Given the description of an element on the screen output the (x, y) to click on. 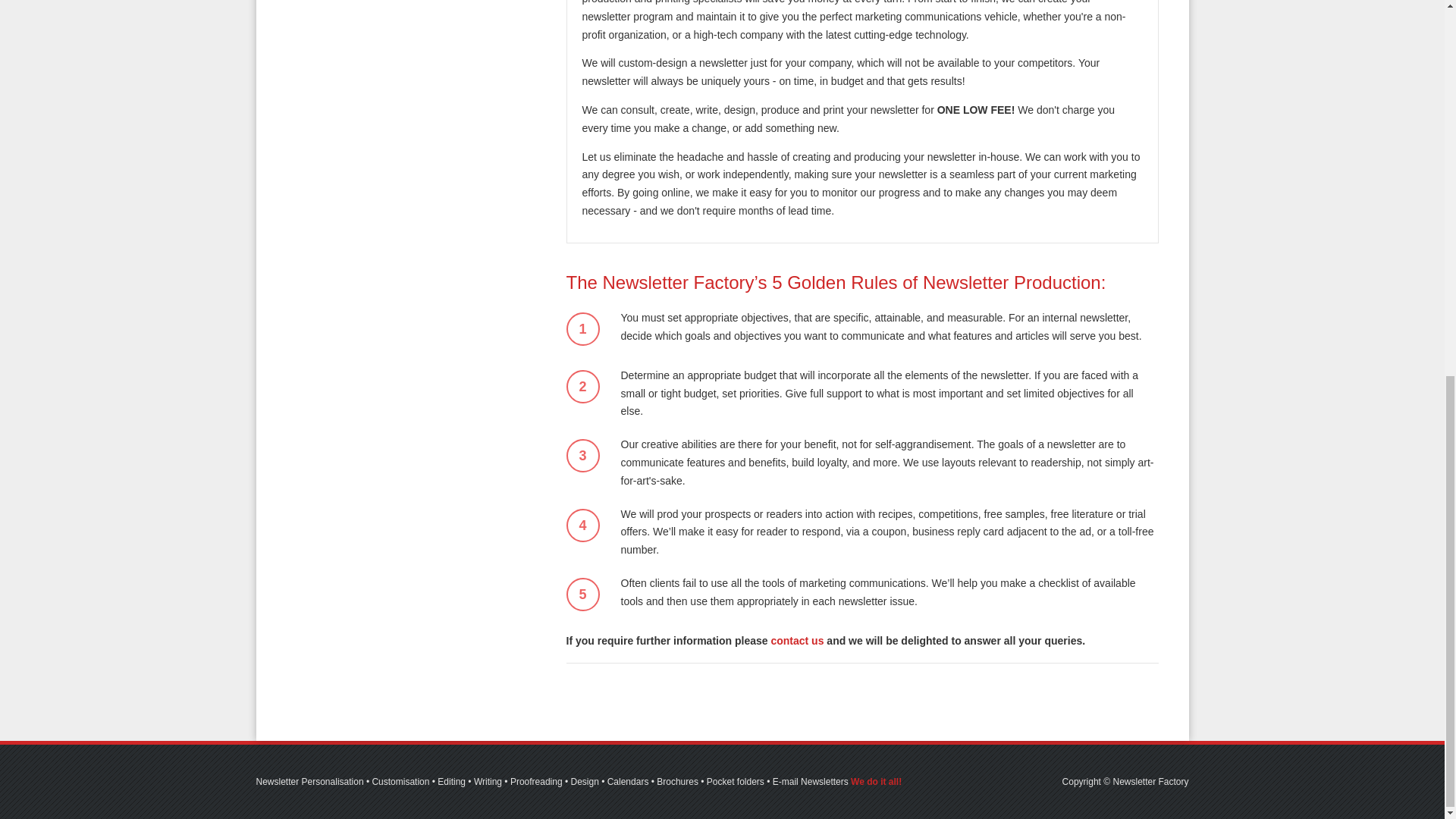
contact us (797, 640)
We do it all! (875, 781)
